Given the description of an element on the screen output the (x, y) to click on. 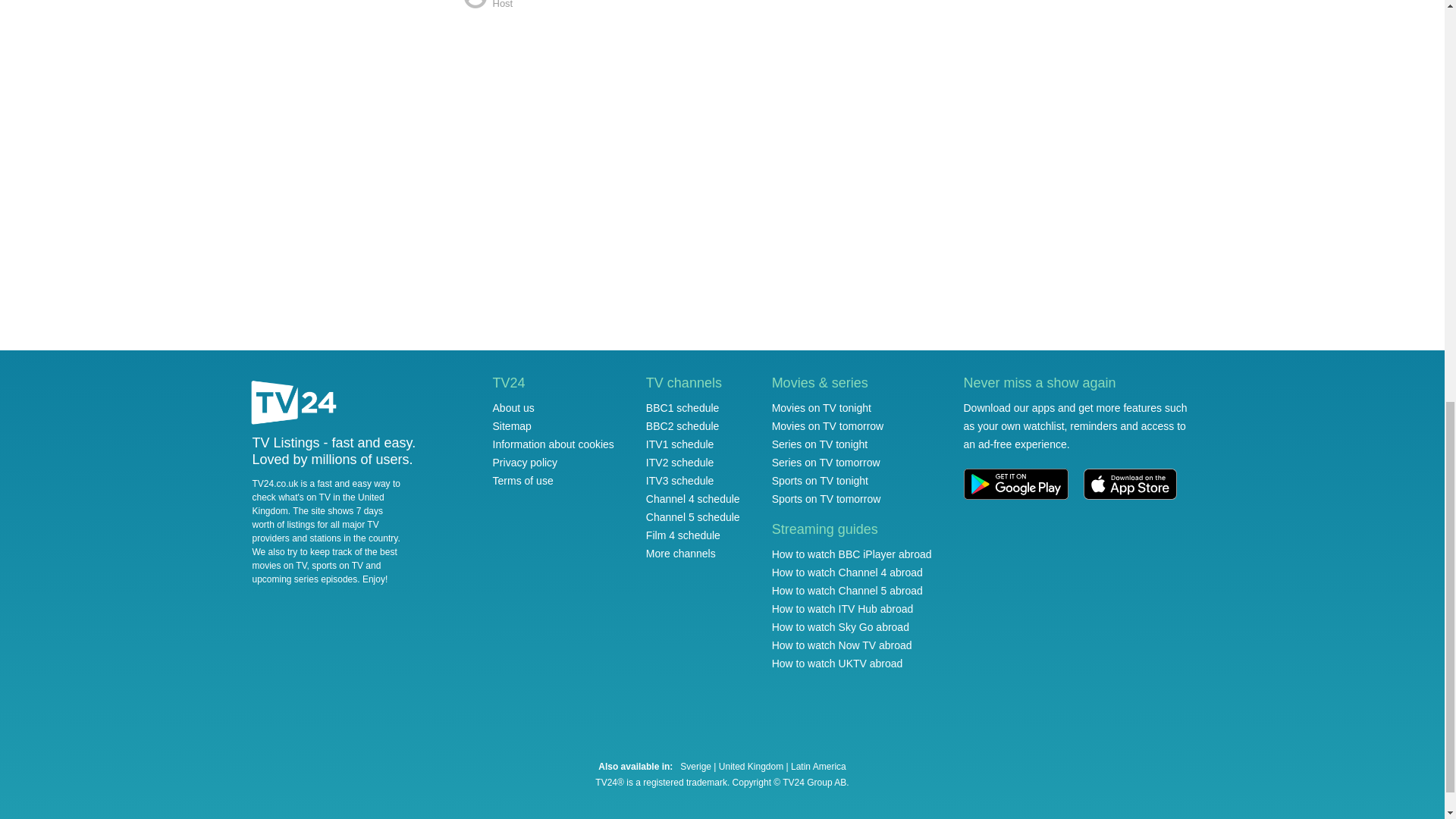
upcoming series episodes (303, 579)
ITV2 schedule (680, 462)
Channel 5 schedule (692, 517)
Movies on TV tonight (820, 408)
ITV3 schedule (680, 480)
More channels (681, 553)
ITV1 schedule (680, 444)
Channel 4 schedule (692, 499)
ITV1 schedule (680, 444)
Channel 5 schedule (692, 517)
ITV2 schedule (680, 462)
Sitemap (512, 426)
TV24.co.uk (294, 404)
Film 4 schedule (683, 535)
Privacy policy (525, 462)
